Given the description of an element on the screen output the (x, y) to click on. 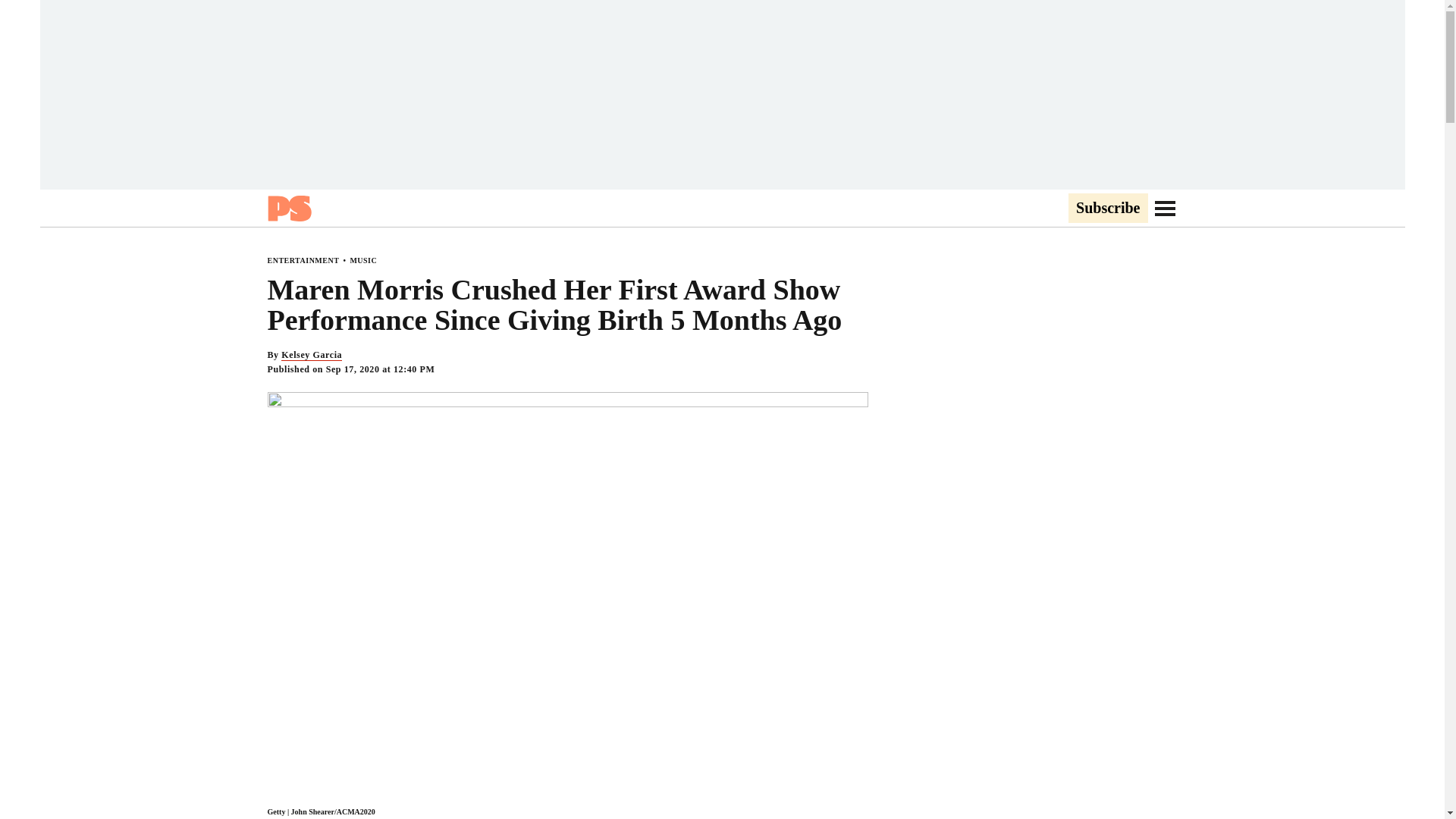
ENTERTAINMENT (302, 260)
MUSIC (363, 260)
Kelsey Garcia (311, 355)
Popsugar (288, 208)
Subscribe (1107, 208)
Go to Navigation (1164, 207)
Go to Navigation (1164, 207)
